Given the description of an element on the screen output the (x, y) to click on. 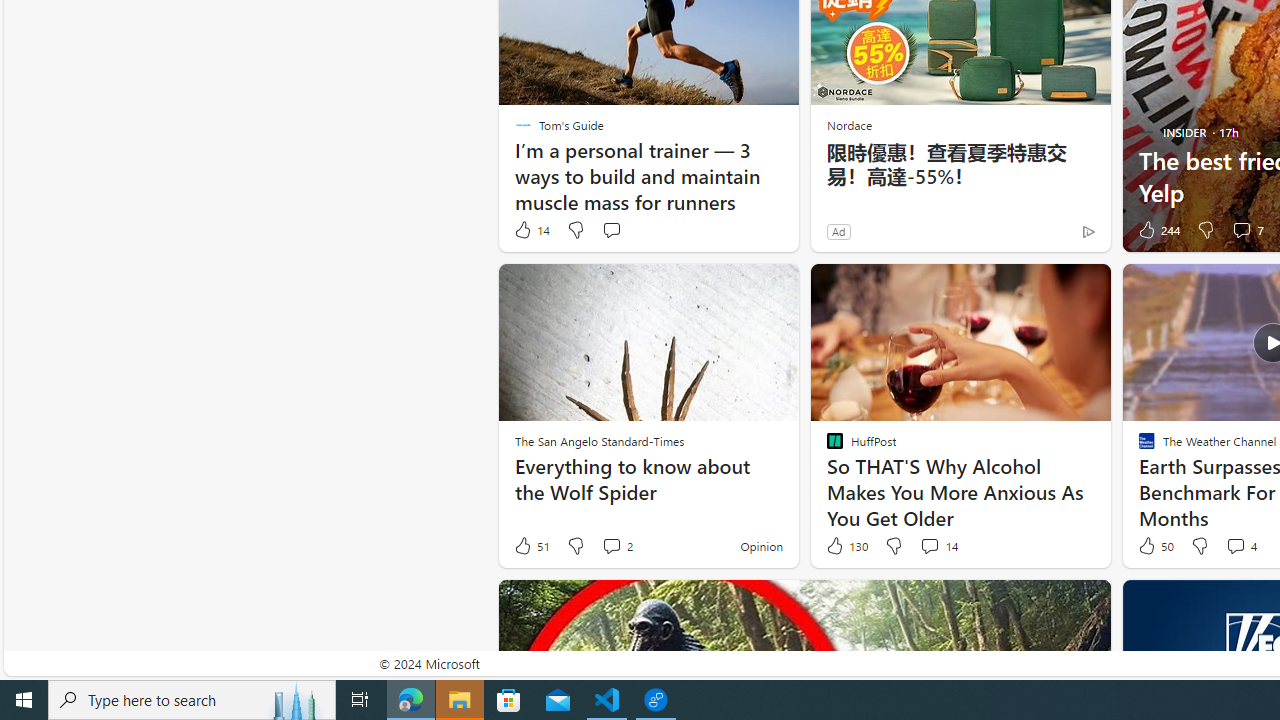
View comments 2 Comment (611, 545)
244 Like (1157, 230)
Hide this story (1050, 603)
130 Like (845, 546)
View comments 4 Comment (1234, 545)
50 Like (1154, 546)
View comments 14 Comment (929, 545)
View comments 7 Comment (1247, 230)
51 Like (531, 546)
